Given the description of an element on the screen output the (x, y) to click on. 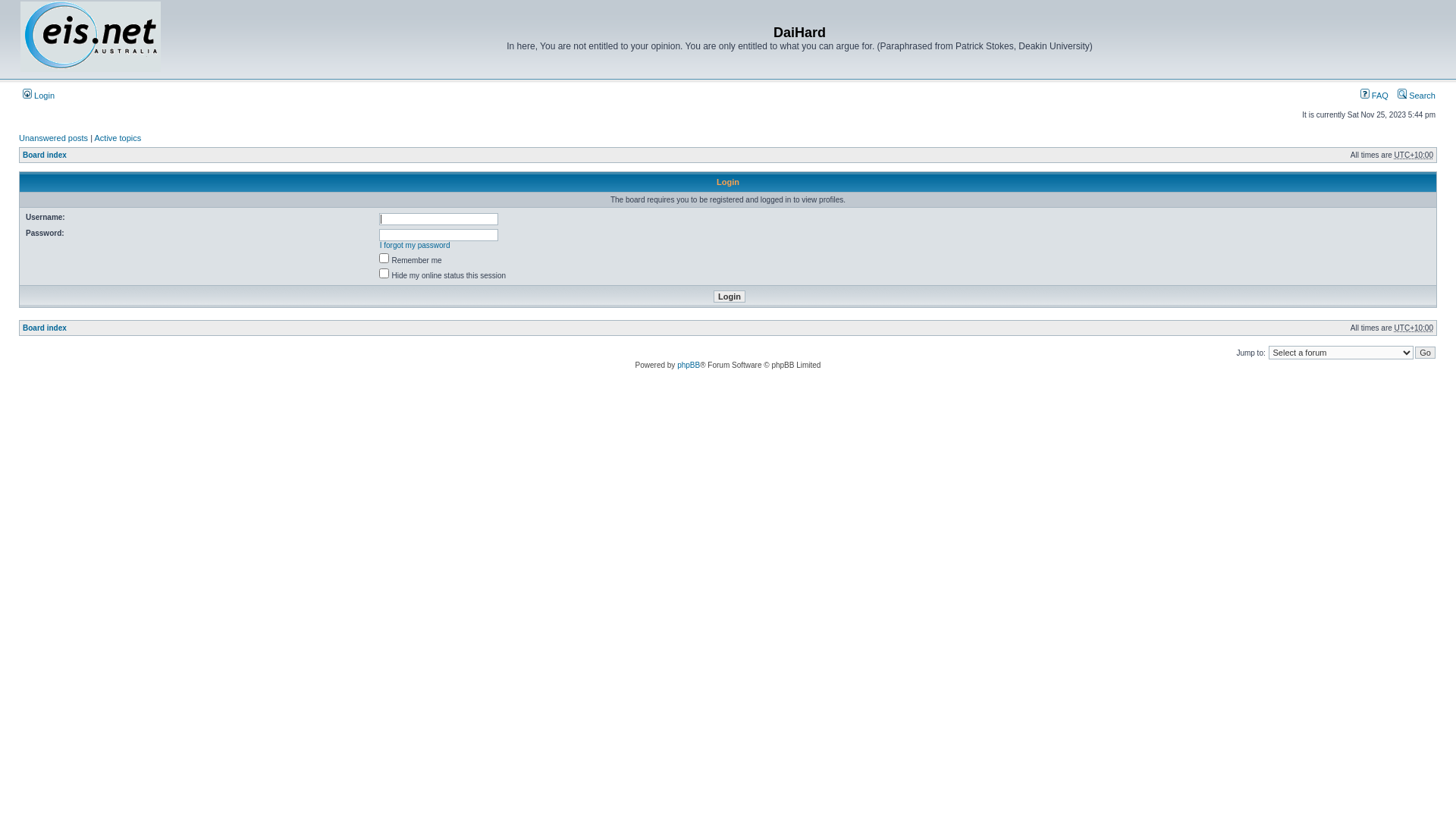
Unanswered posts Element type: text (52, 137)
I forgot my password Element type: text (414, 245)
FAQ Element type: text (1374, 95)
Go Element type: text (1425, 352)
Login Element type: text (38, 95)
Board index Element type: text (44, 327)
Search Element type: text (1416, 95)
Login Element type: text (729, 296)
phpBB Element type: text (688, 364)
Board index Element type: text (44, 154)
Active topics Element type: text (117, 137)
